Given the description of an element on the screen output the (x, y) to click on. 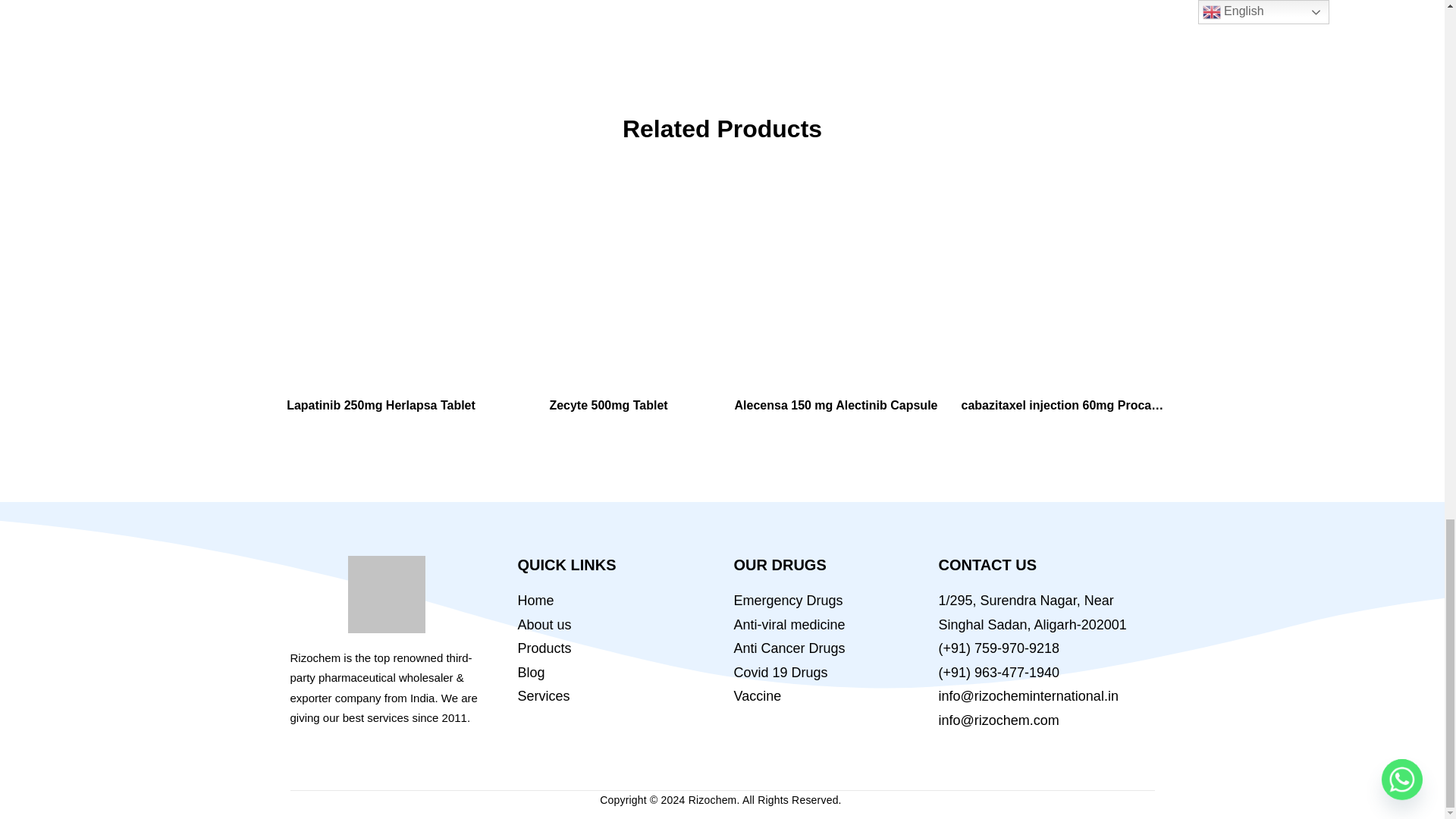
cabazitaxel injection 60mg Procabazi (1063, 283)
Zecyte 500mg Tablet (608, 283)
Alecensa 150 mg Alectinib Capsule (836, 283)
Lapatinib 250mg Herlapsa Tablet (381, 283)
